Given the description of an element on the screen output the (x, y) to click on. 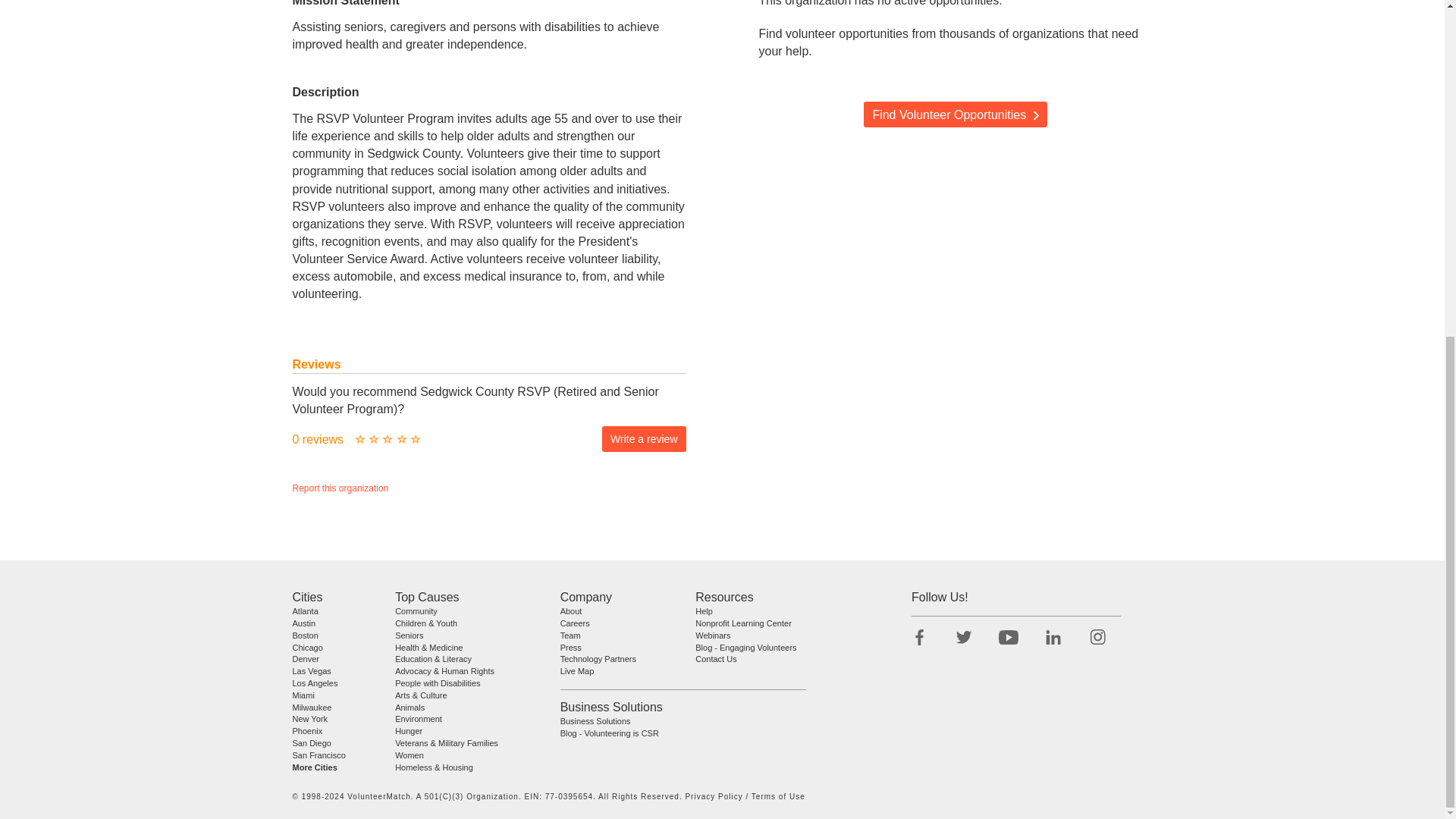
Find Volunteer Opportunities (954, 114)
Write a review (643, 438)
Boston (305, 634)
Denver (305, 658)
Atlanta (305, 610)
Report this organization (340, 488)
Chicago (307, 646)
Austin (303, 623)
